Given the description of an element on the screen output the (x, y) to click on. 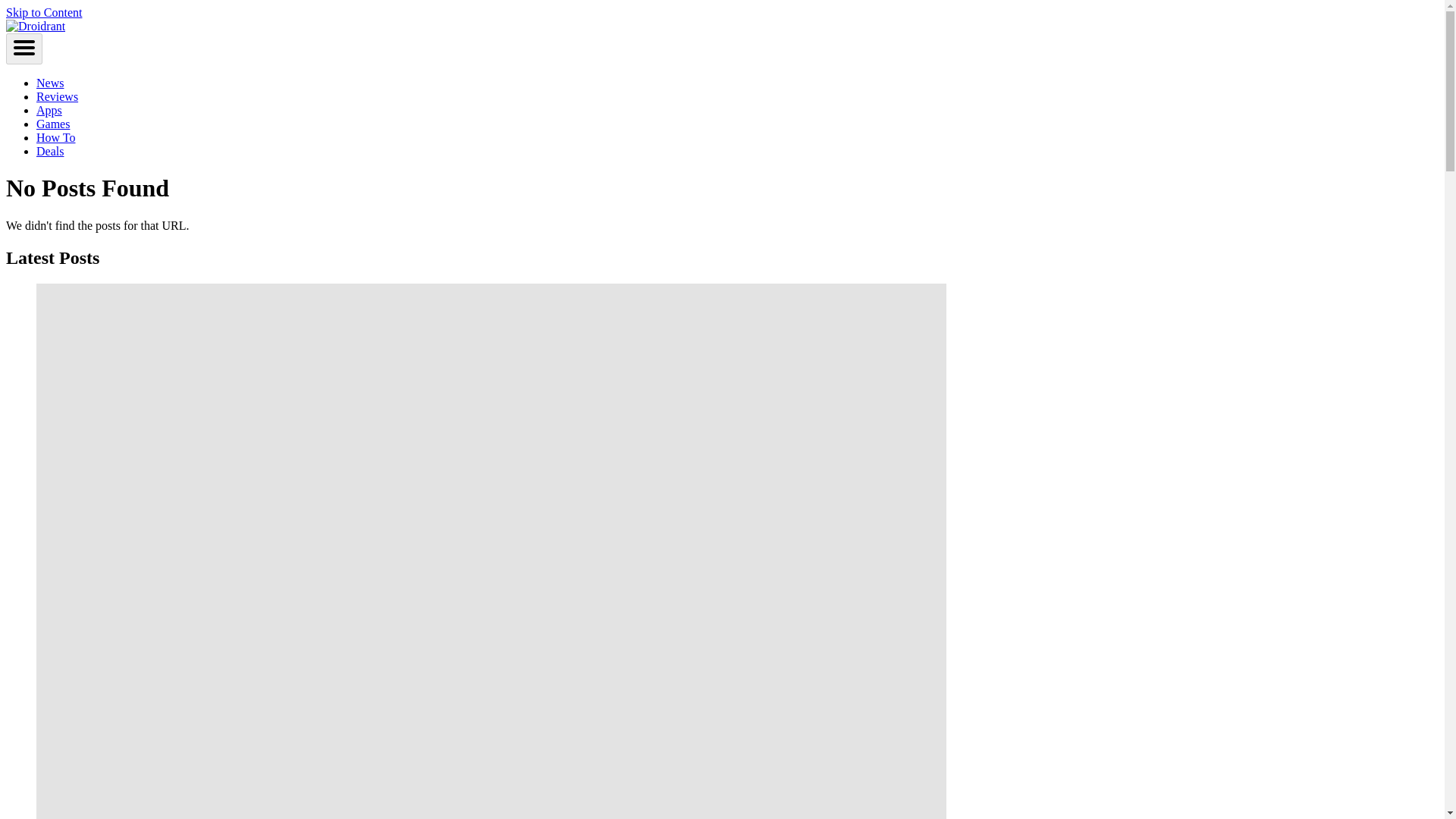
Games (52, 123)
Reviews (57, 96)
How To (55, 137)
Skip to Content (43, 11)
Droidrant (35, 25)
Deals (50, 151)
News (50, 82)
Apps (49, 110)
